Given the description of an element on the screen output the (x, y) to click on. 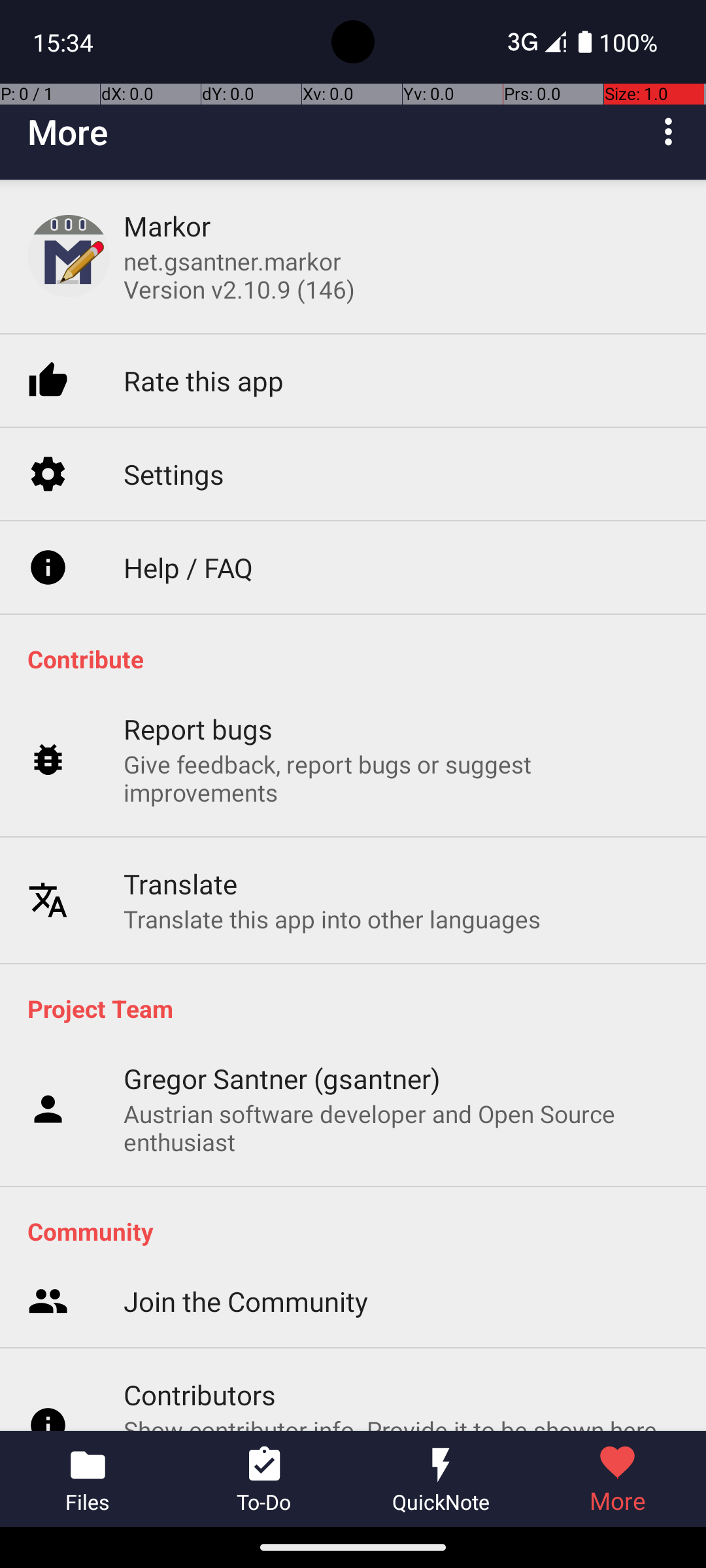
Contribute Element type: android.widget.TextView (359, 658)
Project Team Element type: android.widget.TextView (359, 1008)
Community Element type: android.widget.TextView (359, 1230)
net.gsantner.markor
Version v2.10.9 (146) Element type: android.widget.TextView (239, 274)
Rate this app Element type: android.widget.TextView (203, 333)
Help / FAQ Element type: android.widget.TextView (188, 518)
Report bugs Element type: android.widget.TextView (198, 678)
Give feedback, report bugs or suggest improvements Element type: android.widget.TextView (400, 727)
Translate Element type: android.widget.TextView (180, 832)
Translate this app into other languages Element type: android.widget.TextView (331, 867)
Gregor Santner (gsantner) Element type: android.widget.TextView (281, 1077)
Austrian software developer and Open Source enthusiast Element type: android.widget.TextView (400, 1127)
Join the Community Element type: android.widget.TextView (245, 1132)
Contributors Element type: android.widget.TextView (199, 1224)
Show contributor info. Provide it to be shown here on an opt-in basis after contributing Element type: android.widget.TextView (400, 1274)
